Given the description of an element on the screen output the (x, y) to click on. 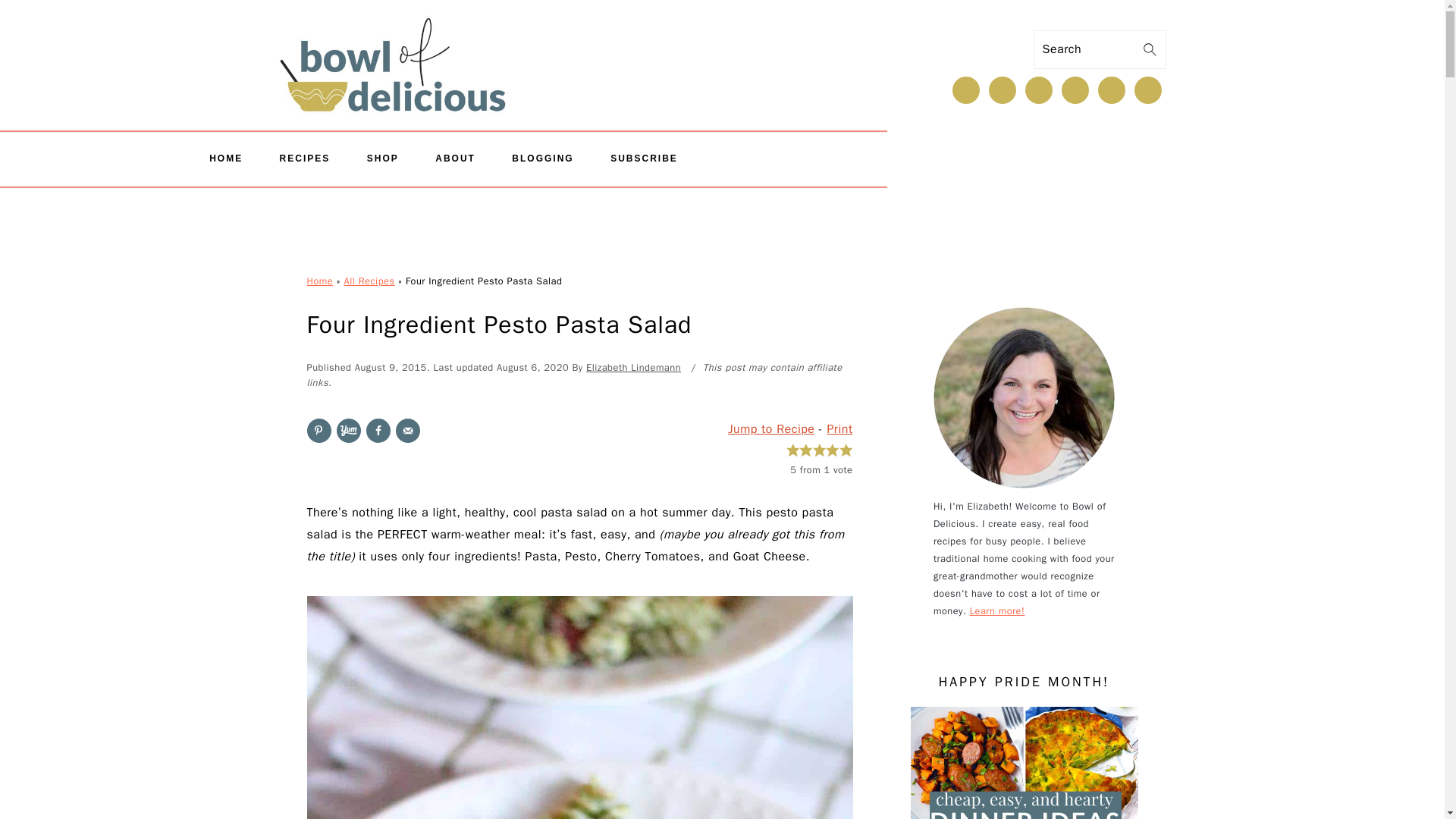
HOME (226, 159)
Bowl of Delicious (392, 68)
Bowl of Delicious (392, 52)
SHOP (382, 159)
Save to Pinterest (317, 430)
Share on Facebook (378, 430)
ABOUT (455, 159)
RECIPES (304, 159)
Share on Yummly (348, 430)
